Given the description of an element on the screen output the (x, y) to click on. 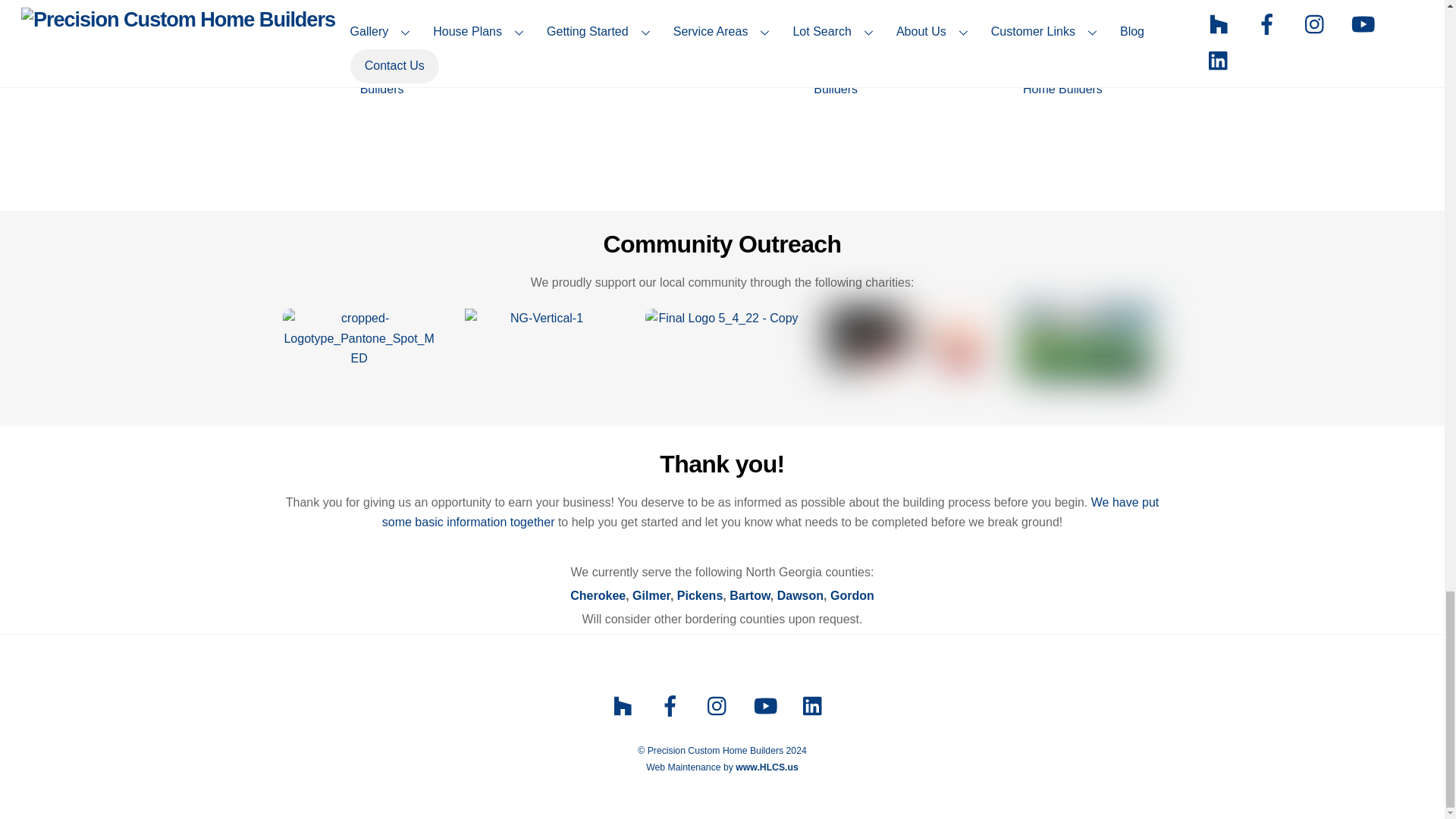
Custom Home Builders (381, 111)
NG-Vertical-1 (540, 349)
Custom Home Builders (609, 100)
Custom Home Builders (835, 100)
cropped-clarkschirstmaskids-404x152 (903, 336)
Ecologi Marketing (1085, 343)
Custom Home Builders (1062, 100)
